Given the description of an element on the screen output the (x, y) to click on. 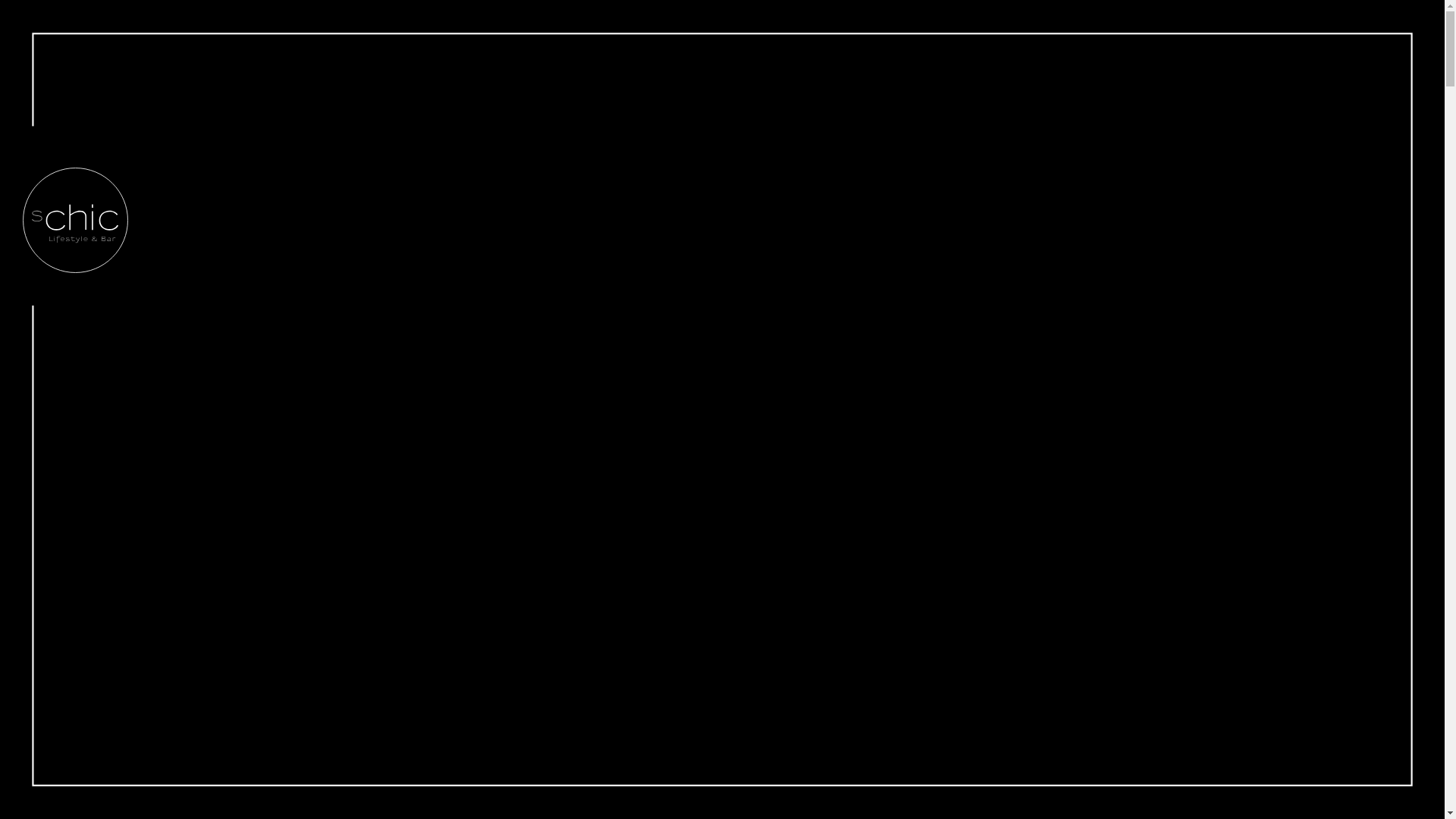
sChic Bar Element type: hover (74, 269)
sChic Bar Zillertal Element type: hover (74, 219)
